Given the description of an element on the screen output the (x, y) to click on. 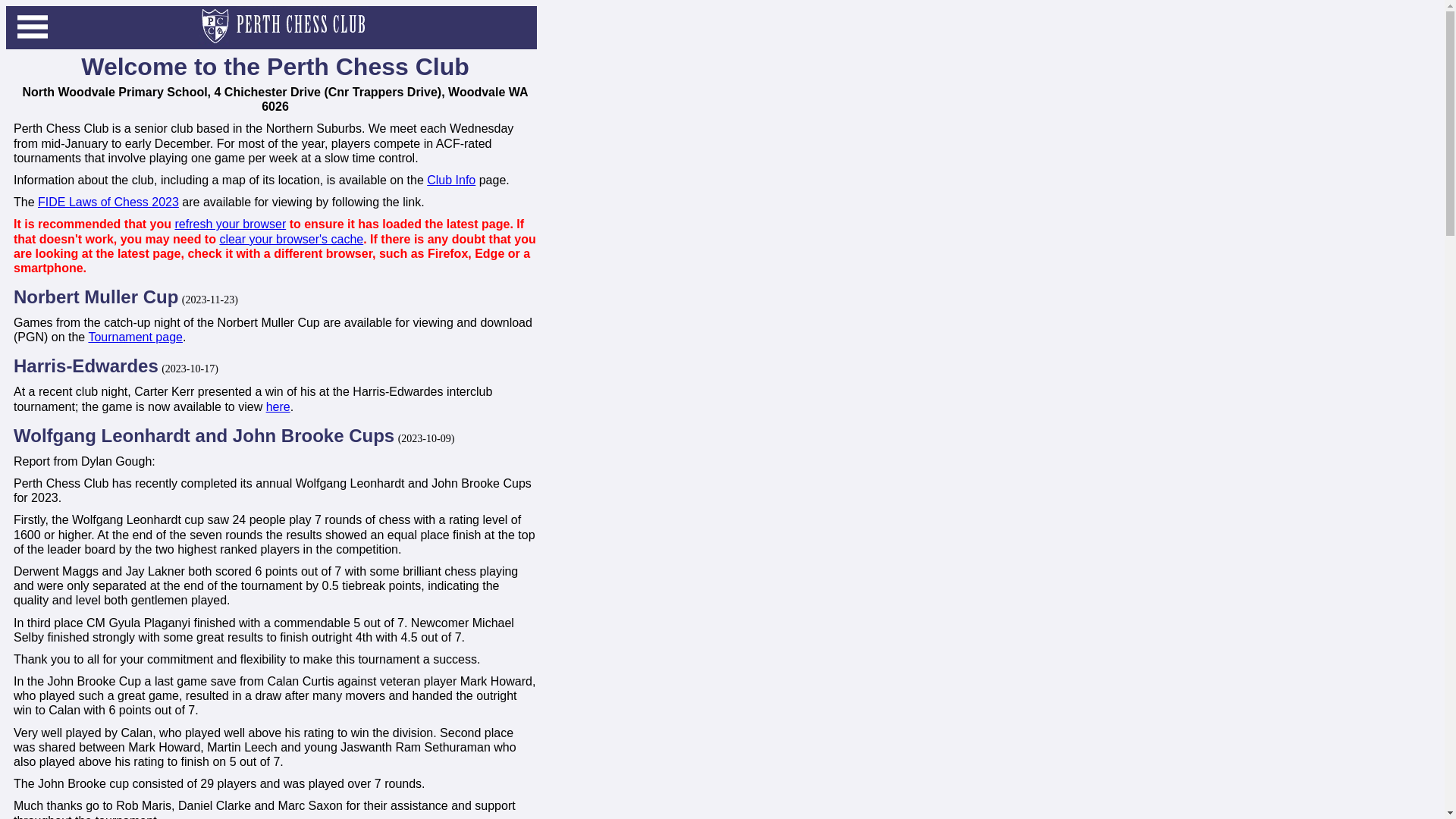
Club Info Element type: text (450, 179)
here Element type: text (278, 406)
Tournament page Element type: text (134, 336)
clear your browser's cache Element type: text (291, 238)
refresh your browser Element type: text (229, 223)
FIDE Laws of Chess 2023 Element type: text (107, 201)
